Given the description of an element on the screen output the (x, y) to click on. 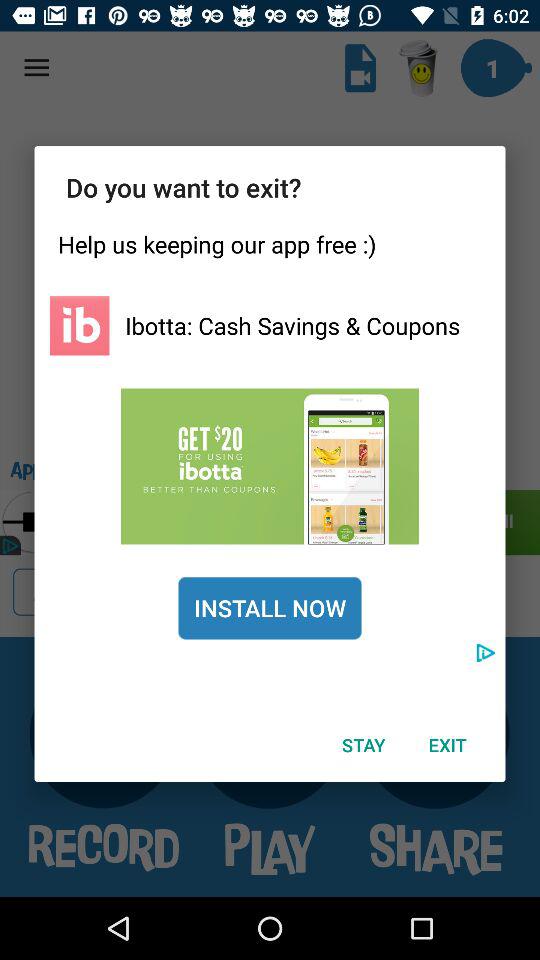
select icon below install now icon (363, 744)
